Given the description of an element on the screen output the (x, y) to click on. 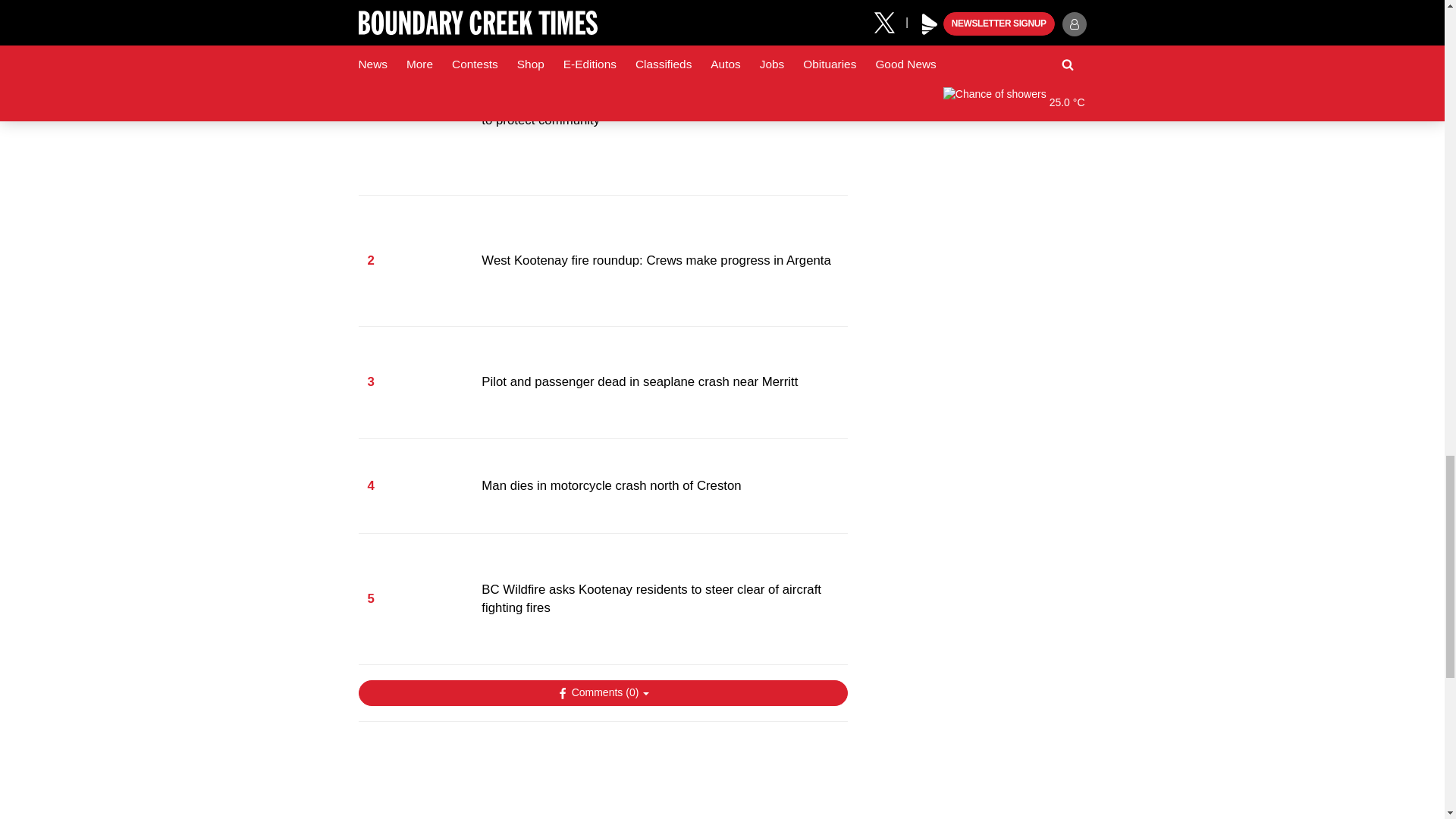
Show Comments (602, 692)
